Given the description of an element on the screen output the (x, y) to click on. 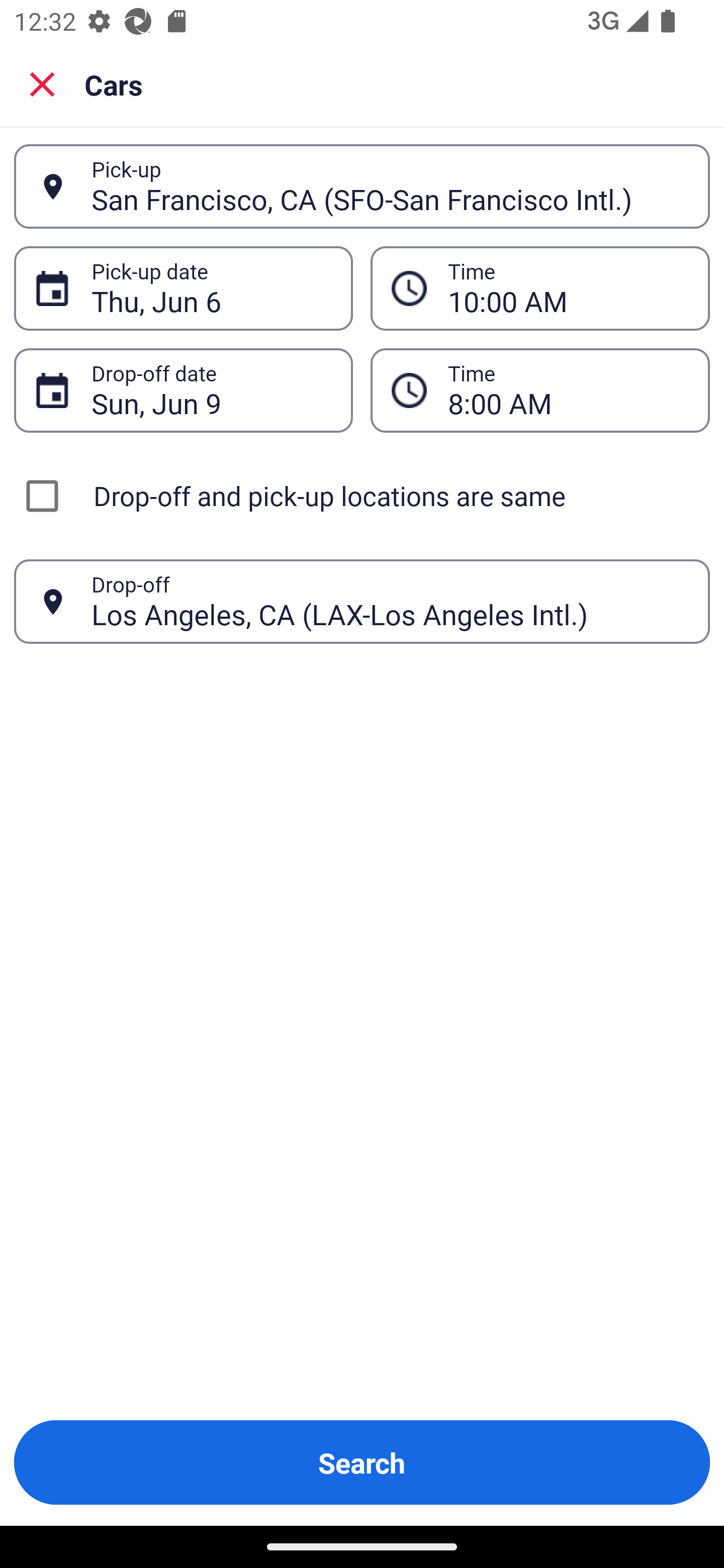
Close search screen (42, 84)
San Francisco, CA (SFO-San Francisco Intl.) (389, 186)
Thu, Jun 6 (211, 288)
10:00 AM (568, 288)
Sun, Jun 9 (211, 390)
8:00 AM (568, 390)
Drop-off and pick-up locations are same (361, 495)
Los Angeles, CA (LAX-Los Angeles Intl.) (389, 601)
Search Button Search (361, 1462)
